Given the description of an element on the screen output the (x, y) to click on. 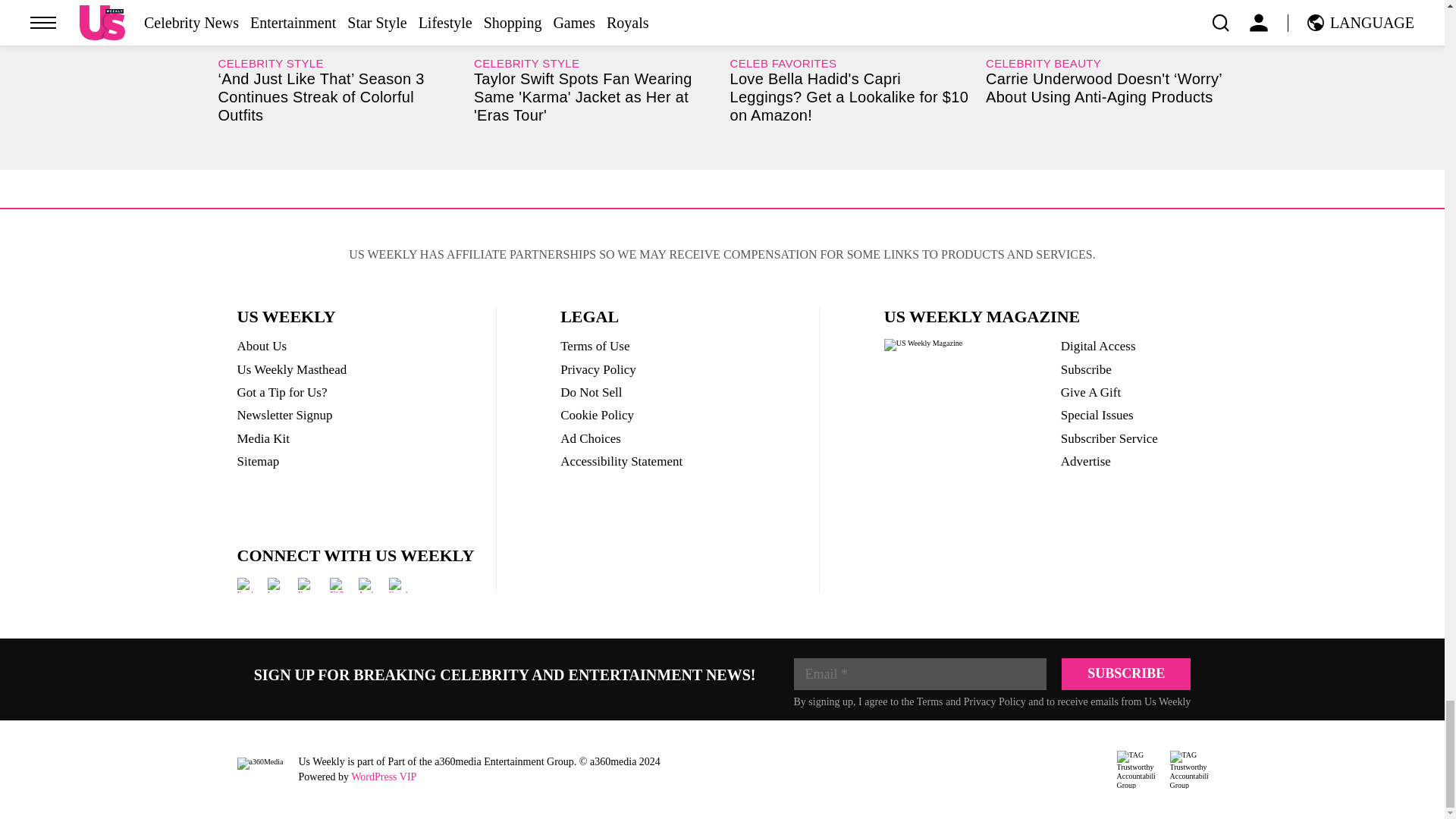
TAG Certified Against Fraud (1188, 769)
TAG Registered (1135, 769)
